Given the description of an element on the screen output the (x, y) to click on. 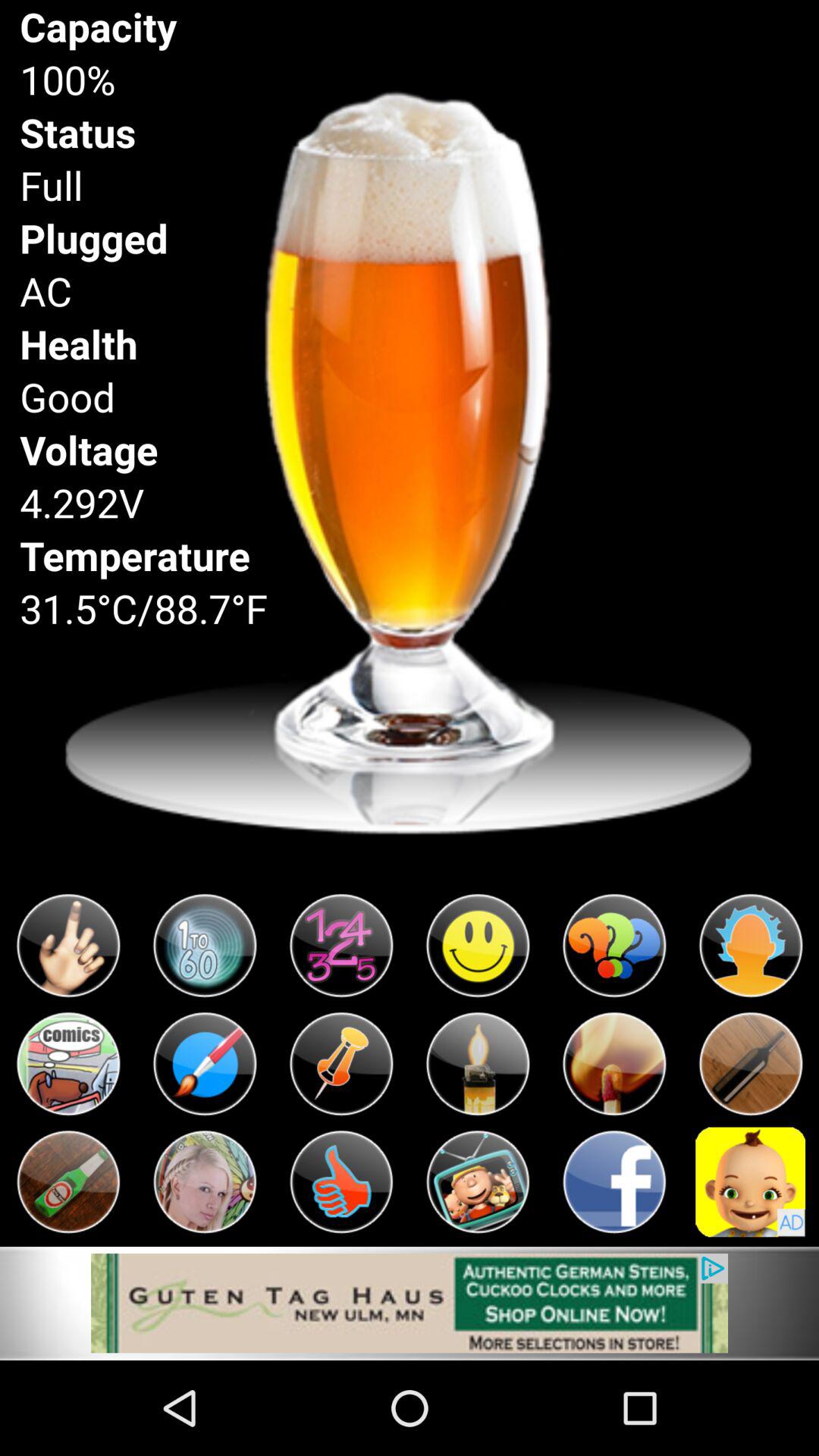
go to play (204, 1182)
